Given the description of an element on the screen output the (x, y) to click on. 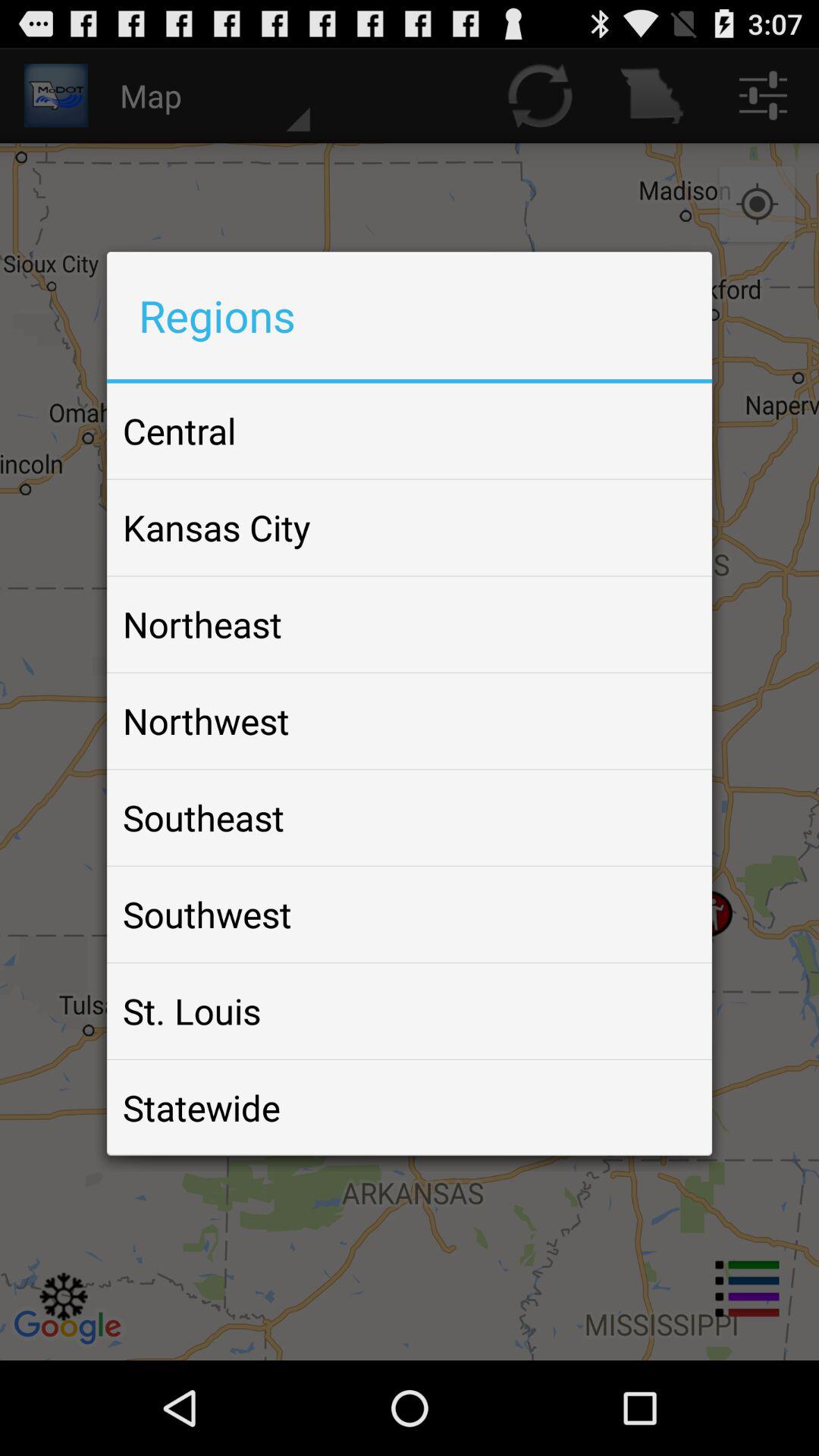
scroll until st. louis (191, 1010)
